Given the description of an element on the screen output the (x, y) to click on. 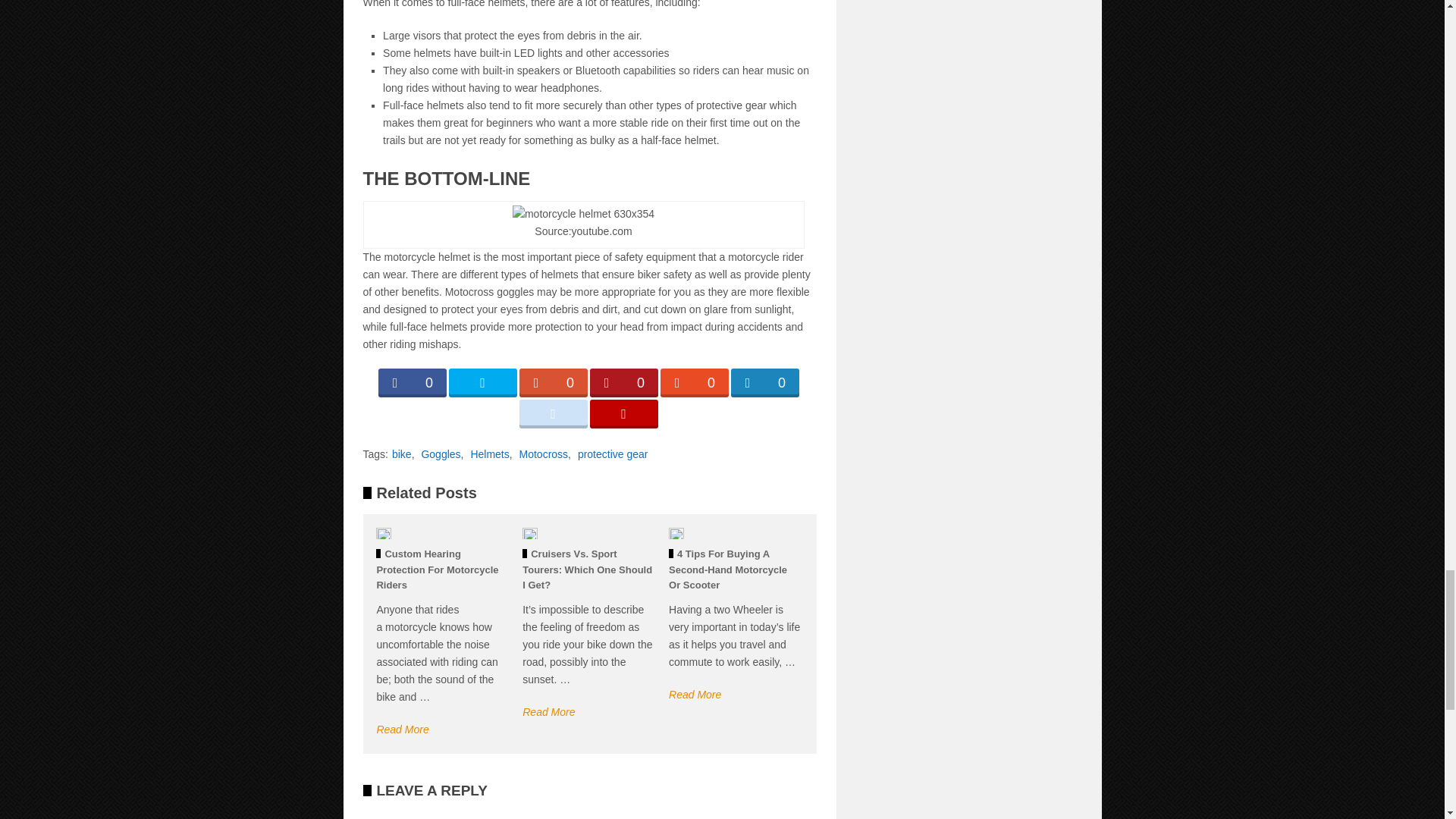
motorcycle helmet 630x354 (582, 213)
